Given the description of an element on the screen output the (x, y) to click on. 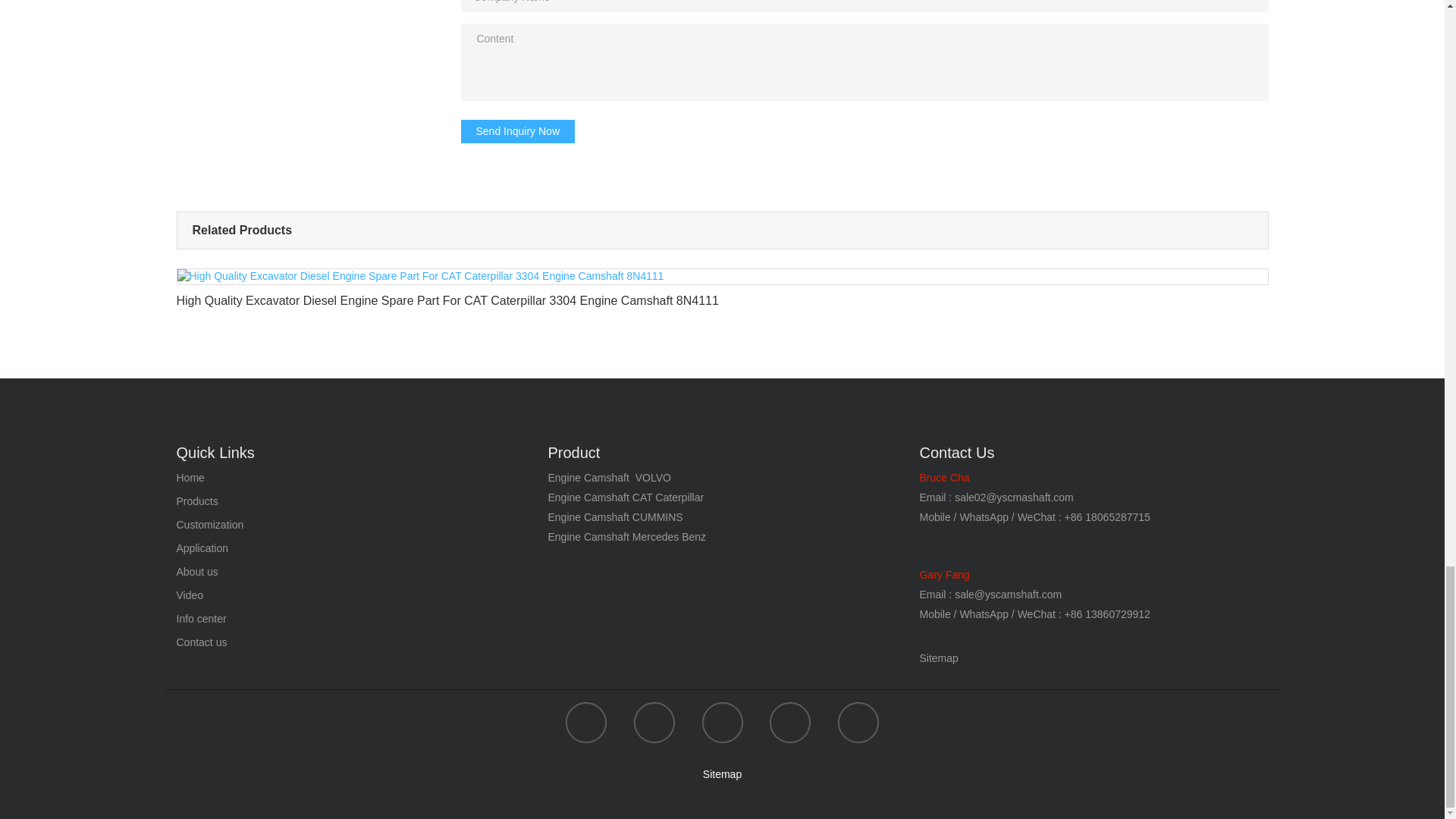
Video (189, 595)
Engine Camshaft Mercedes Benz (626, 536)
Engine Camshaft CAT Caterpillar (625, 497)
Customization (209, 525)
Application (202, 548)
Home (189, 478)
Send Inquiry Now (518, 130)
Contact us (201, 643)
Engine Camshaft CUMMINS (614, 517)
Engine Camshaft  VOLV (604, 477)
Info center (200, 619)
About us (196, 572)
Products (196, 501)
